Given the description of an element on the screen output the (x, y) to click on. 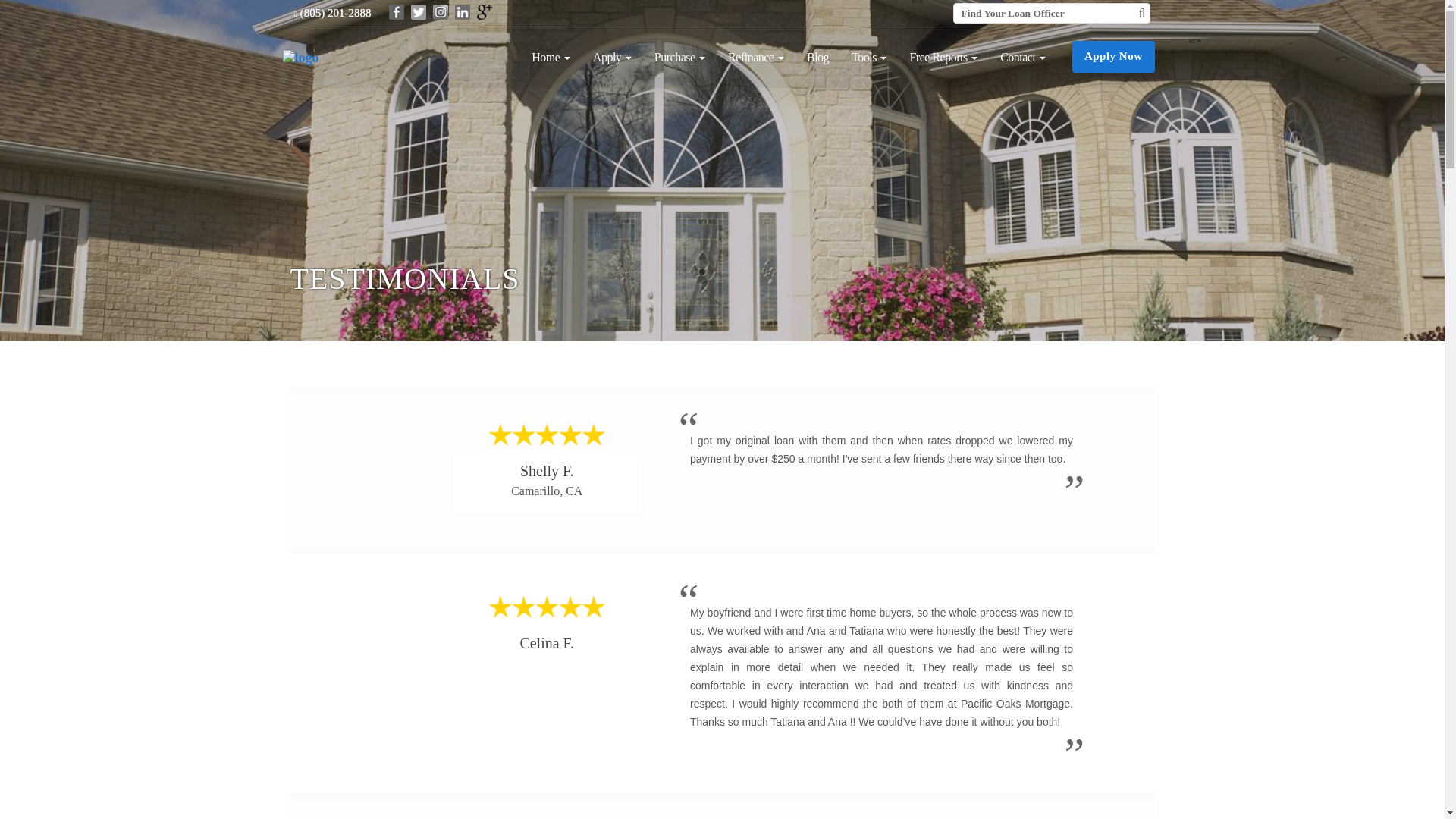
Refinance (755, 57)
Tools (869, 57)
5 stars (546, 434)
Instagram (440, 10)
Purchase (679, 57)
5 stars (546, 606)
Apply (611, 57)
GoogleMyBusiness (484, 10)
Facebook (396, 10)
Apply Now (1112, 56)
